Given the description of an element on the screen output the (x, y) to click on. 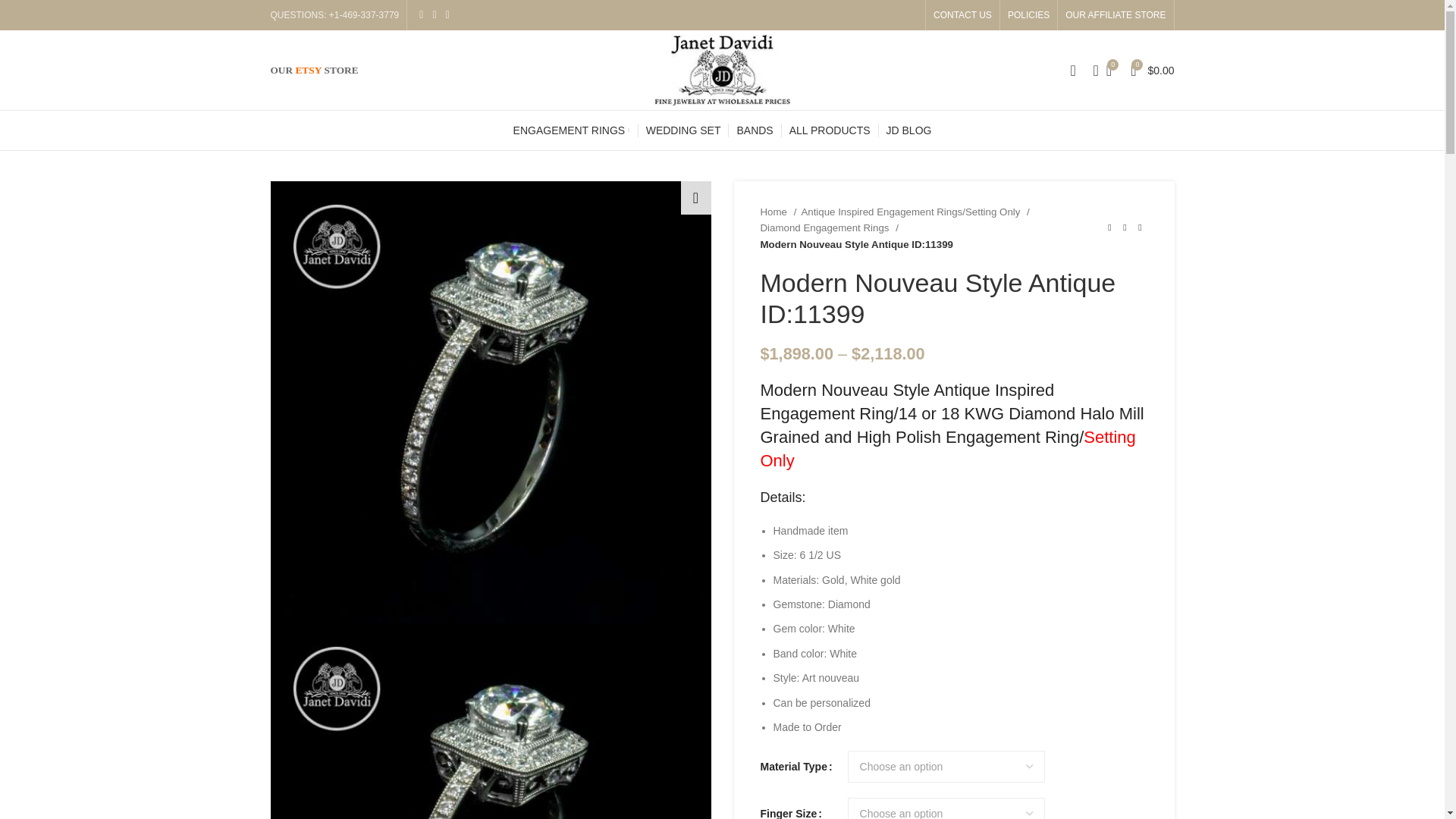
My account (1072, 69)
Shop (829, 130)
Search (1091, 69)
Diamond Engagement Rings (829, 227)
0 (1109, 69)
OUR AFFILIATE STORE (1115, 15)
CONTACT US (962, 15)
Home (778, 211)
ENGAGEMENT RINGS (571, 130)
ALL PRODUCTS (829, 130)
WEDDING SET (683, 130)
Shopping cart (1151, 69)
OUR ETSY STORE (313, 69)
